Given the description of an element on the screen output the (x, y) to click on. 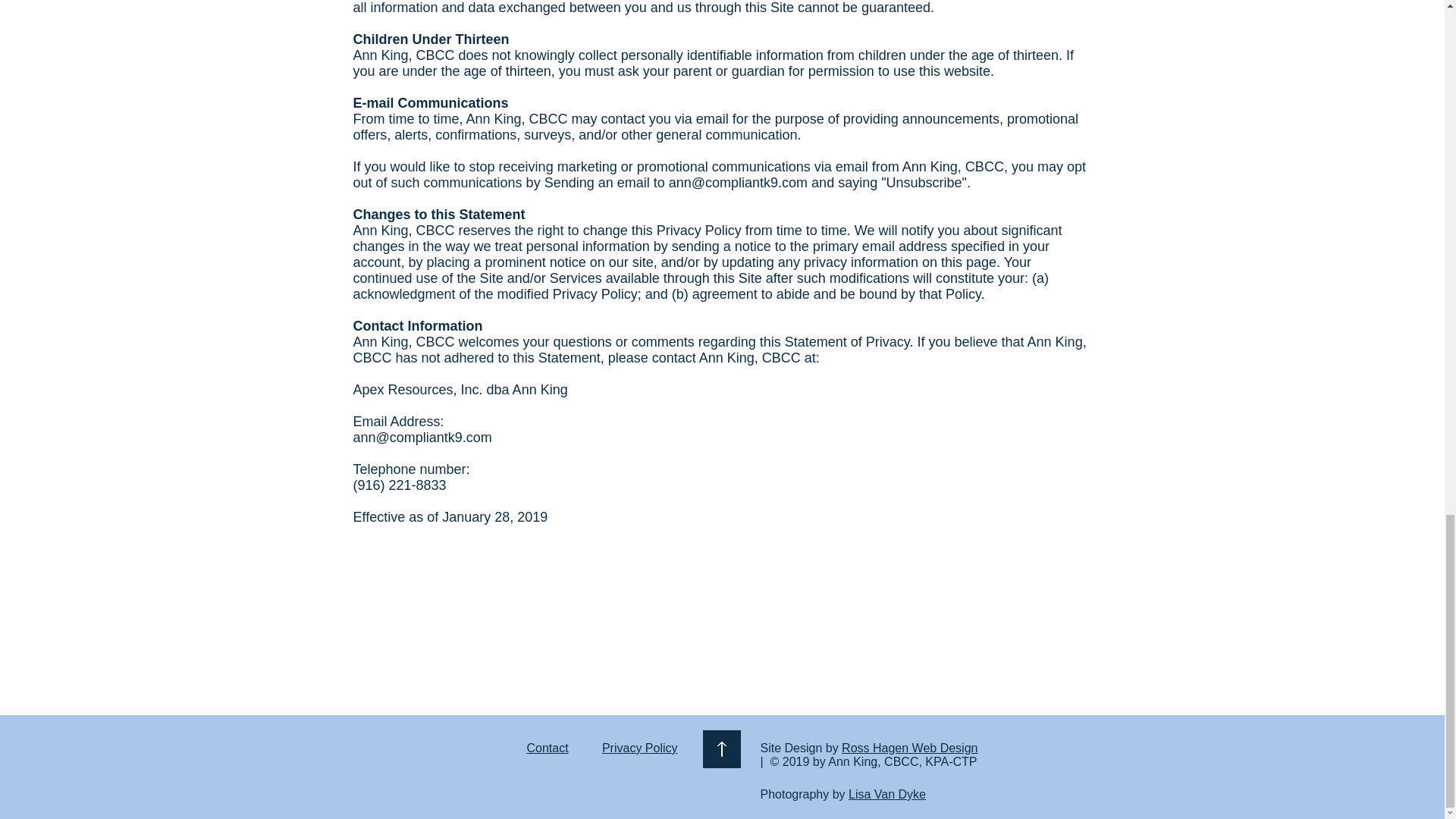
Lisa Van Dyke (887, 793)
Privacy Policy (640, 748)
Back to the top (720, 749)
Ross Hagen Web Design (908, 748)
Contact (546, 748)
